Given the description of an element on the screen output the (x, y) to click on. 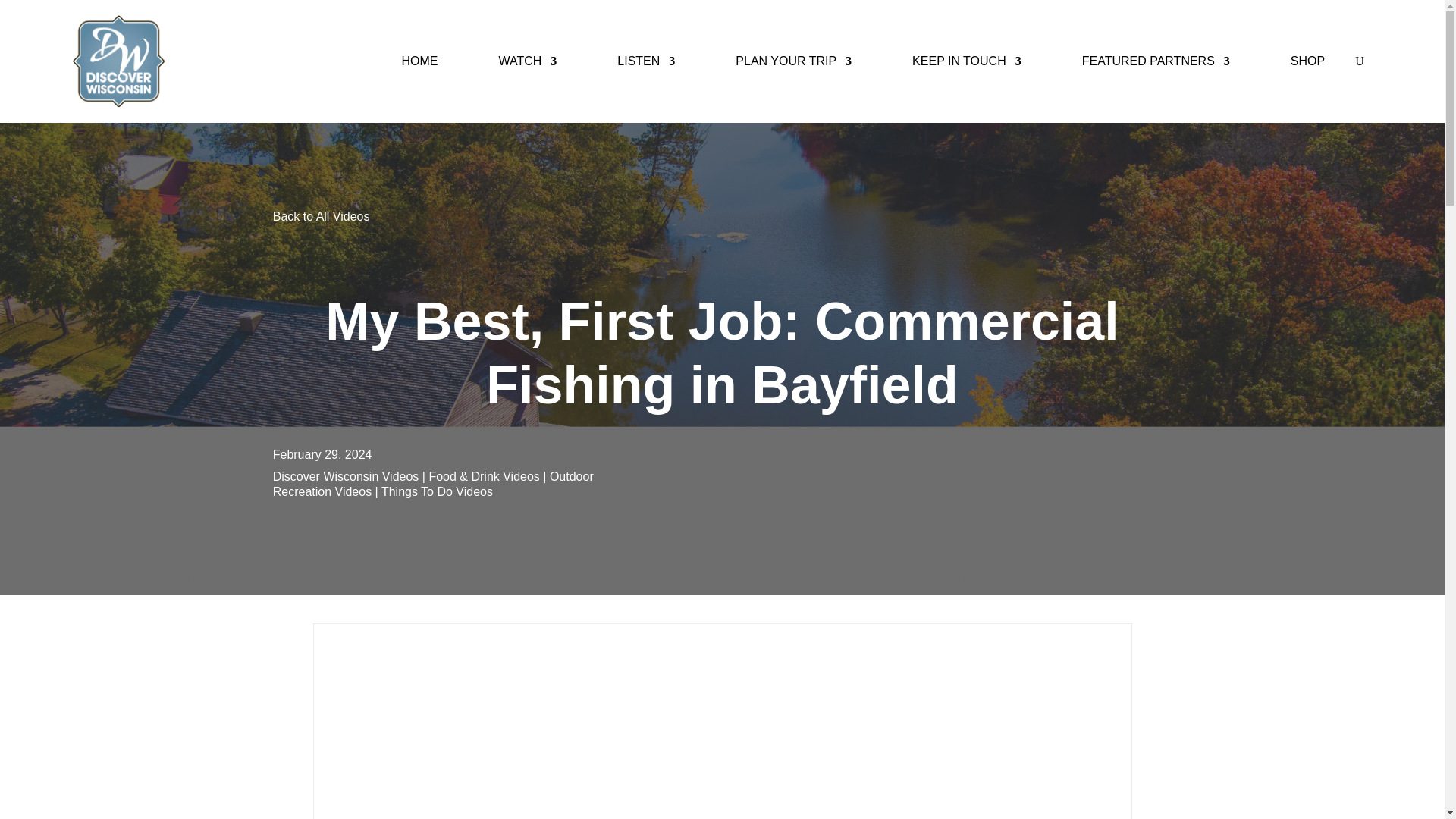
PLAN YOUR TRIP (793, 61)
FEATURED PARTNERS (1155, 61)
KEEP IN TOUCH (967, 61)
